Given the description of an element on the screen output the (x, y) to click on. 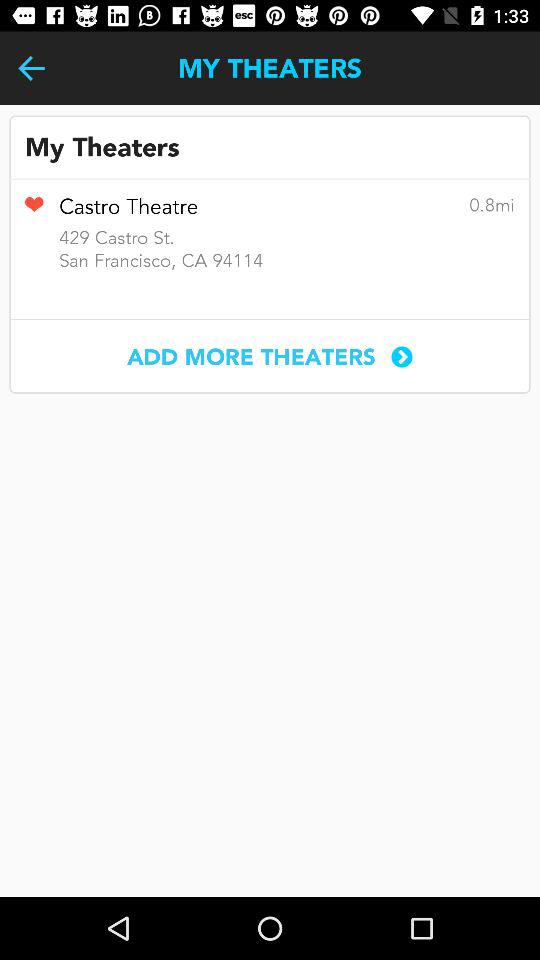
launch item to the left of the castro theatre (34, 211)
